Given the description of an element on the screen output the (x, y) to click on. 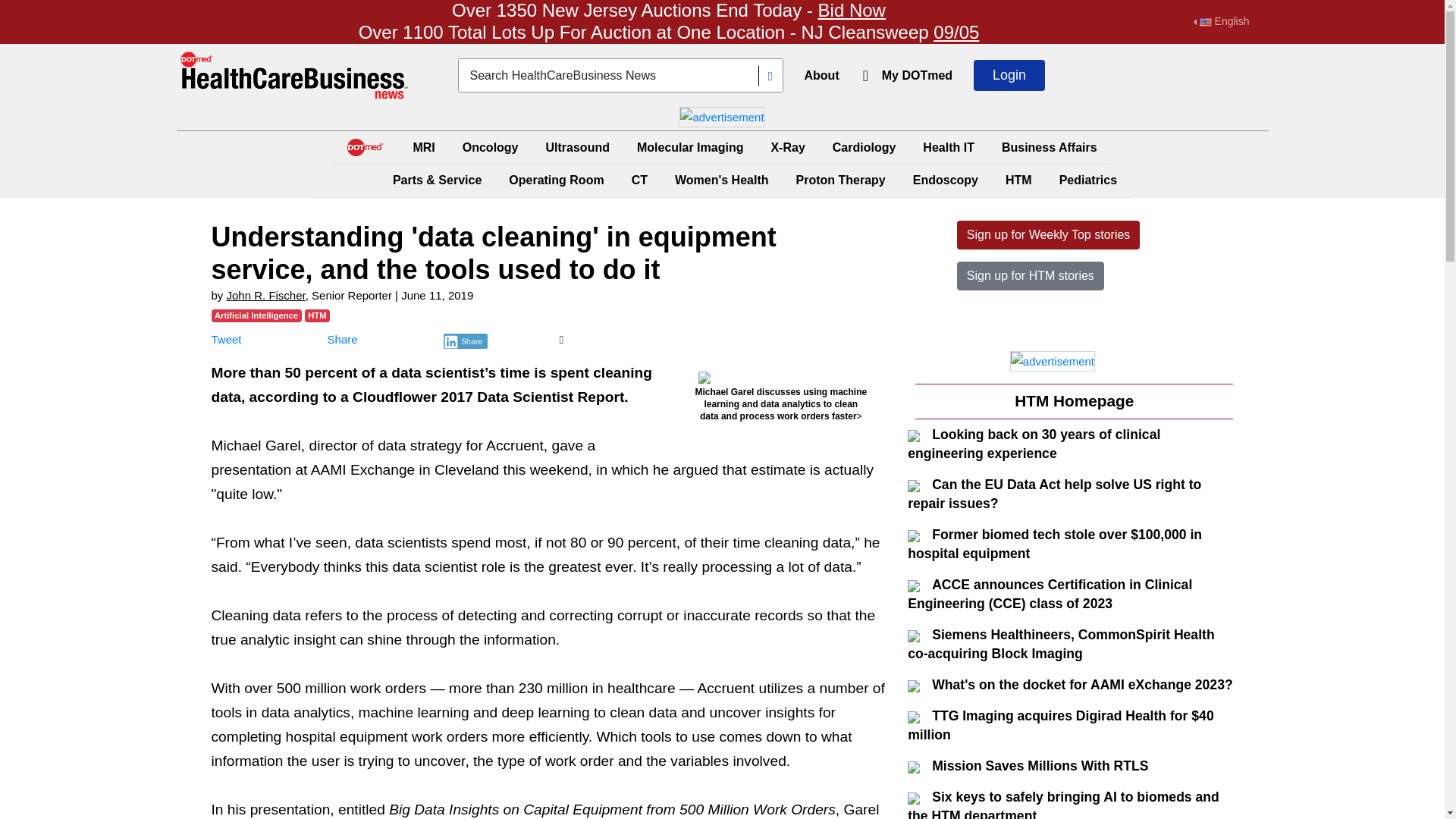
Oncology (490, 146)
X-Ray (787, 146)
English (1220, 21)
Women's Health (721, 179)
Operating Room (556, 179)
Business Affairs (1049, 146)
Ultrasound (577, 146)
Login (1009, 74)
CT (639, 179)
About (820, 74)
